Given the description of an element on the screen output the (x, y) to click on. 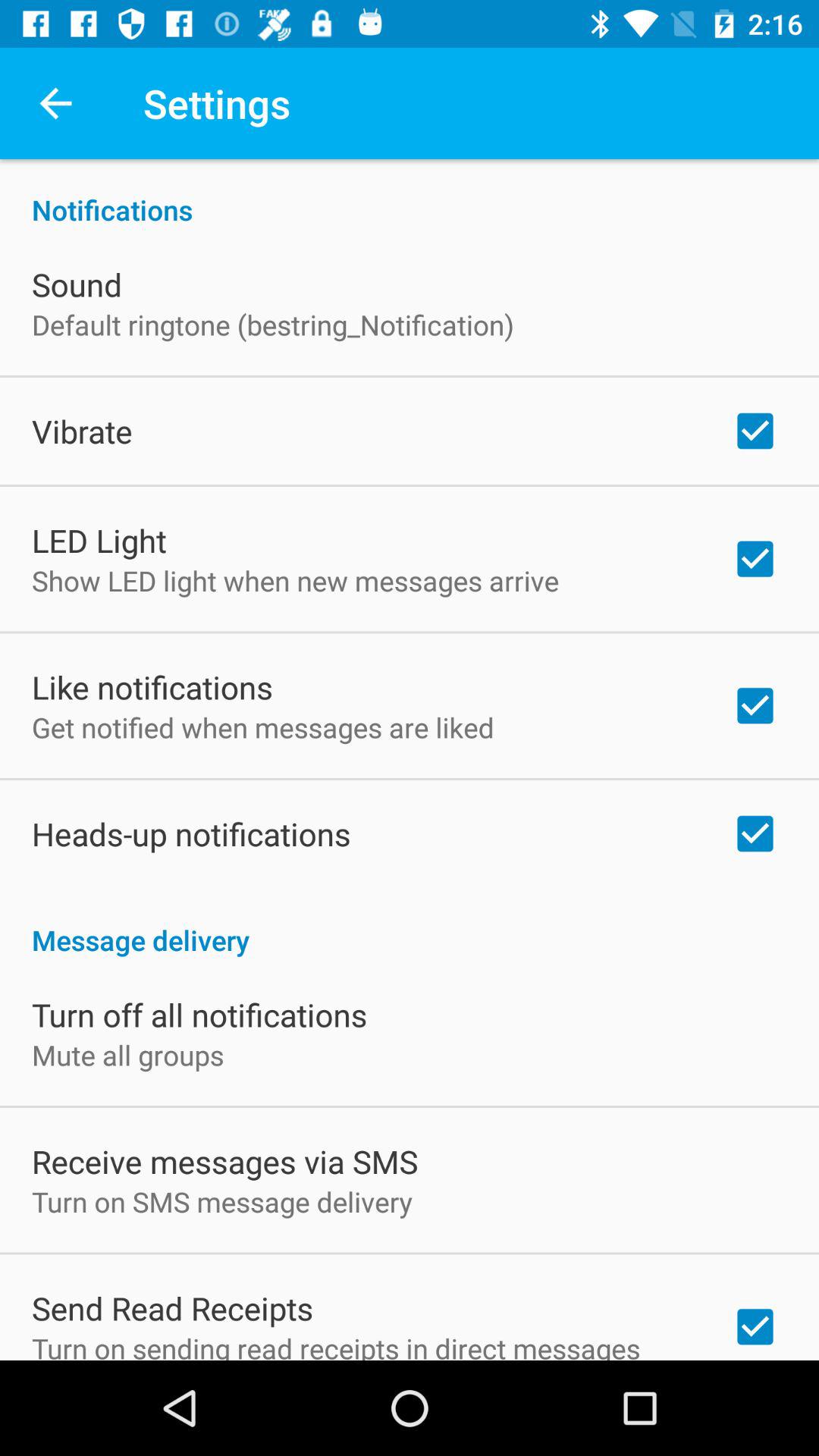
turn off the vibrate icon (81, 430)
